Given the description of an element on the screen output the (x, y) to click on. 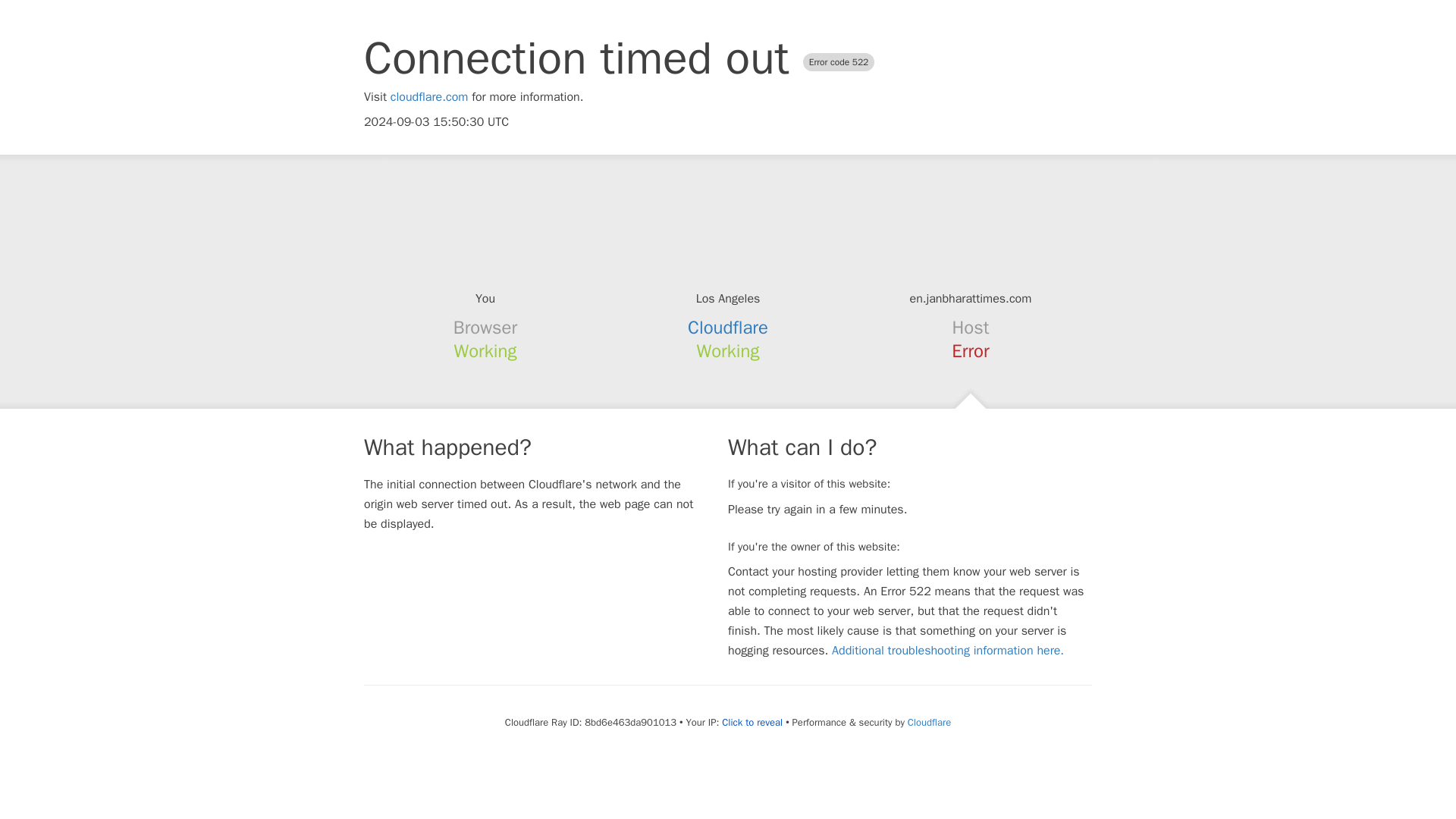
cloudflare.com (429, 96)
Additional troubleshooting information here. (947, 650)
Cloudflare (928, 721)
Cloudflare (727, 327)
Click to reveal (752, 722)
